Given the description of an element on the screen output the (x, y) to click on. 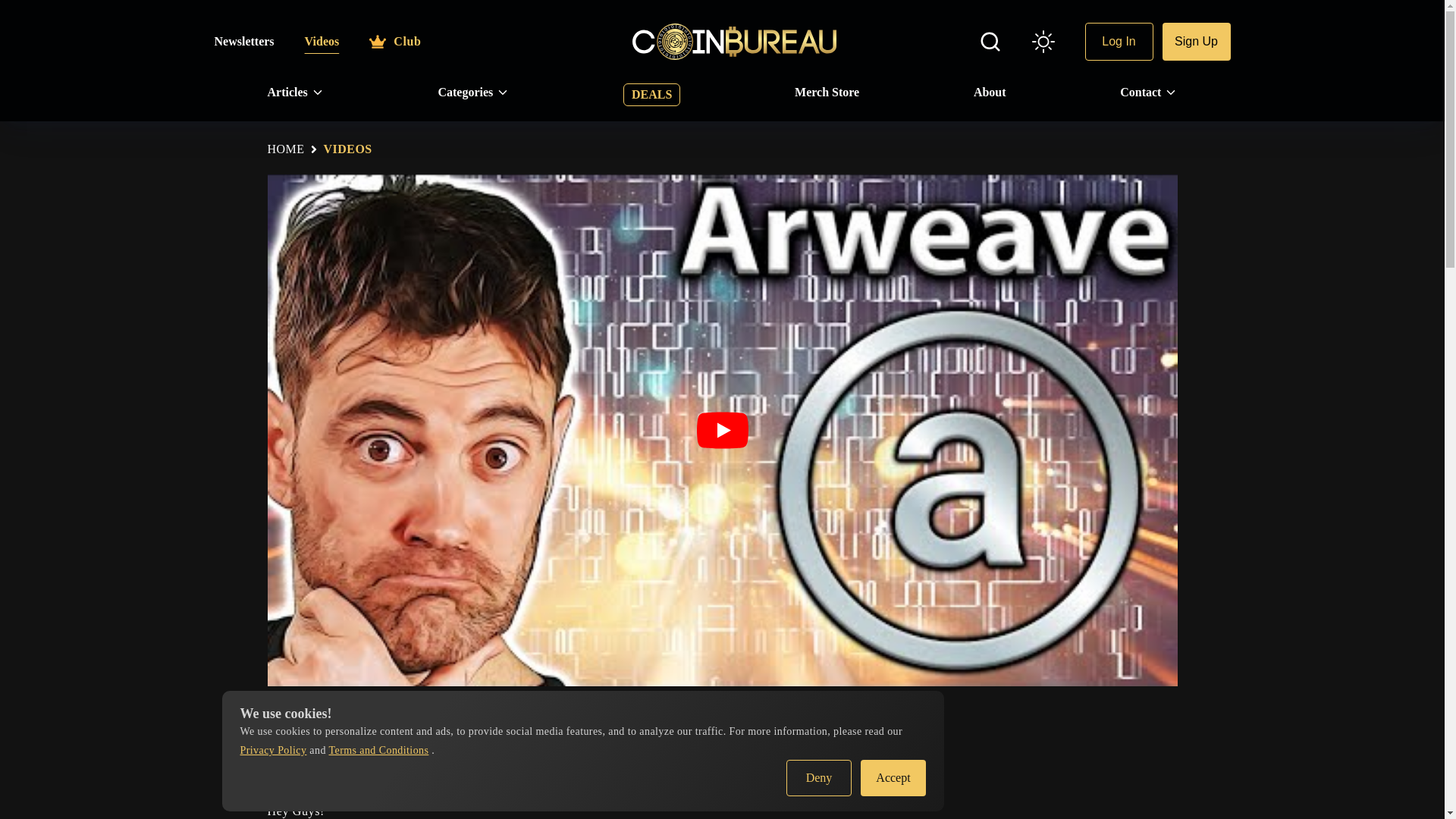
Log In (1118, 41)
Club (394, 41)
Sign Up (1195, 41)
Sign Up (1195, 41)
Videos (322, 41)
About (990, 92)
DEALS (651, 94)
Merch Store (826, 92)
Log In (1118, 41)
Newsletters (243, 41)
